Given the description of an element on the screen output the (x, y) to click on. 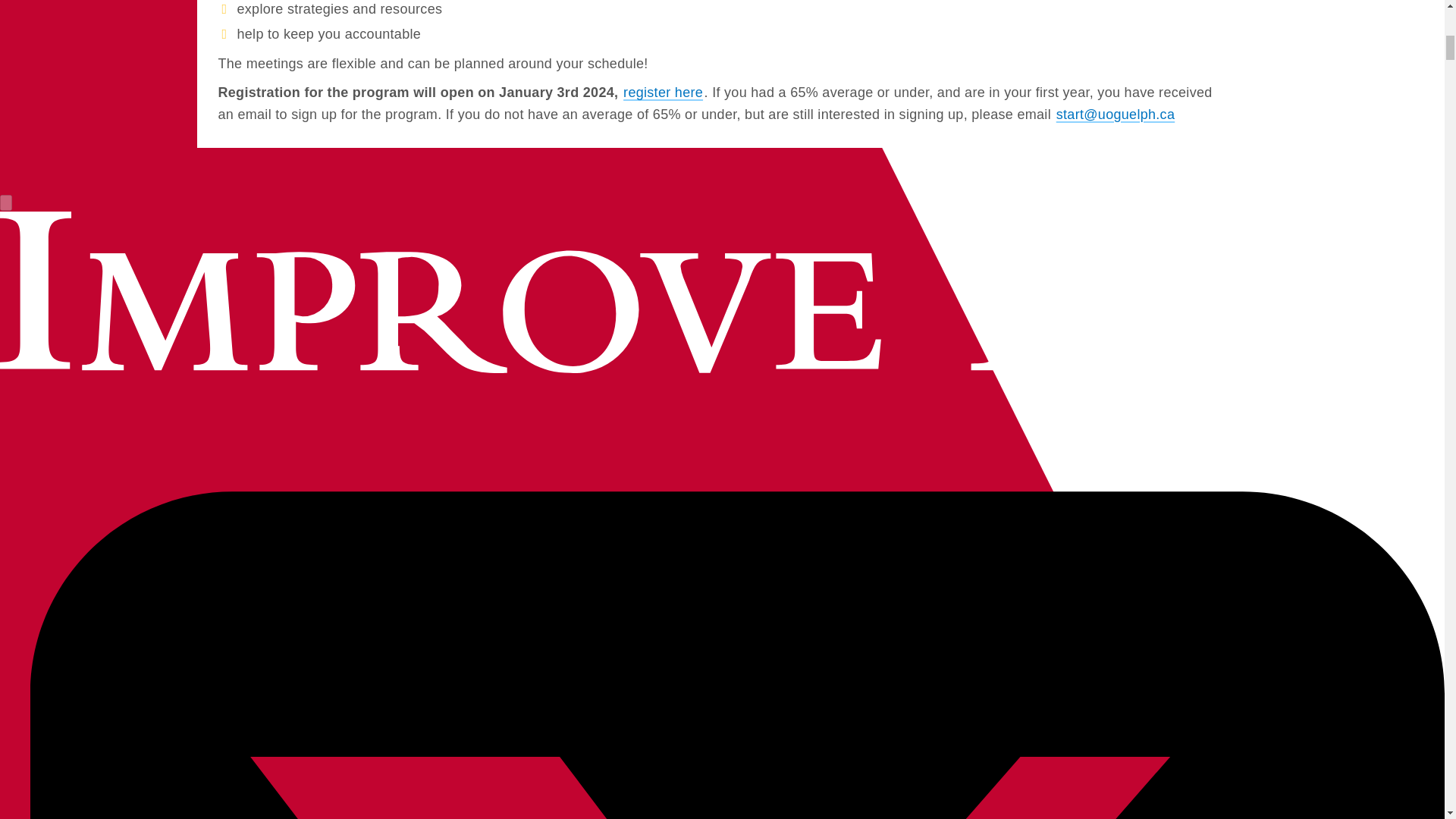
register here (663, 91)
